Given the description of an element on the screen output the (x, y) to click on. 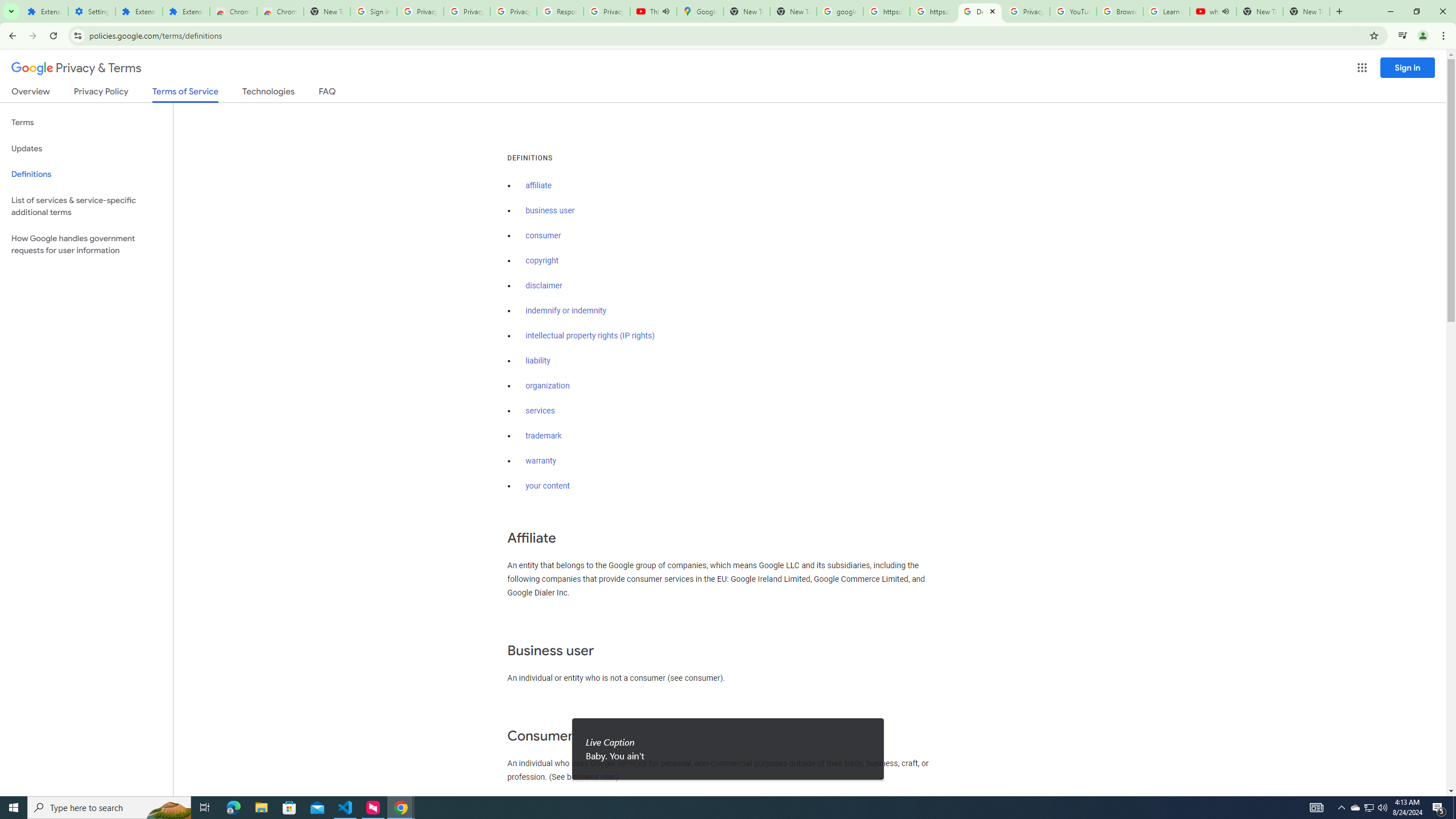
Updates (86, 148)
New Tab (1306, 11)
Chrome Web Store (233, 11)
https://scholar.google.com/ (886, 11)
Sign in - Google Accounts (373, 11)
business user (550, 210)
liability (537, 361)
intellectual property rights (IP rights) (590, 335)
disclaimer (543, 285)
Browse Chrome as a guest - Computer - Google Chrome Help (1120, 11)
